Given the description of an element on the screen output the (x, y) to click on. 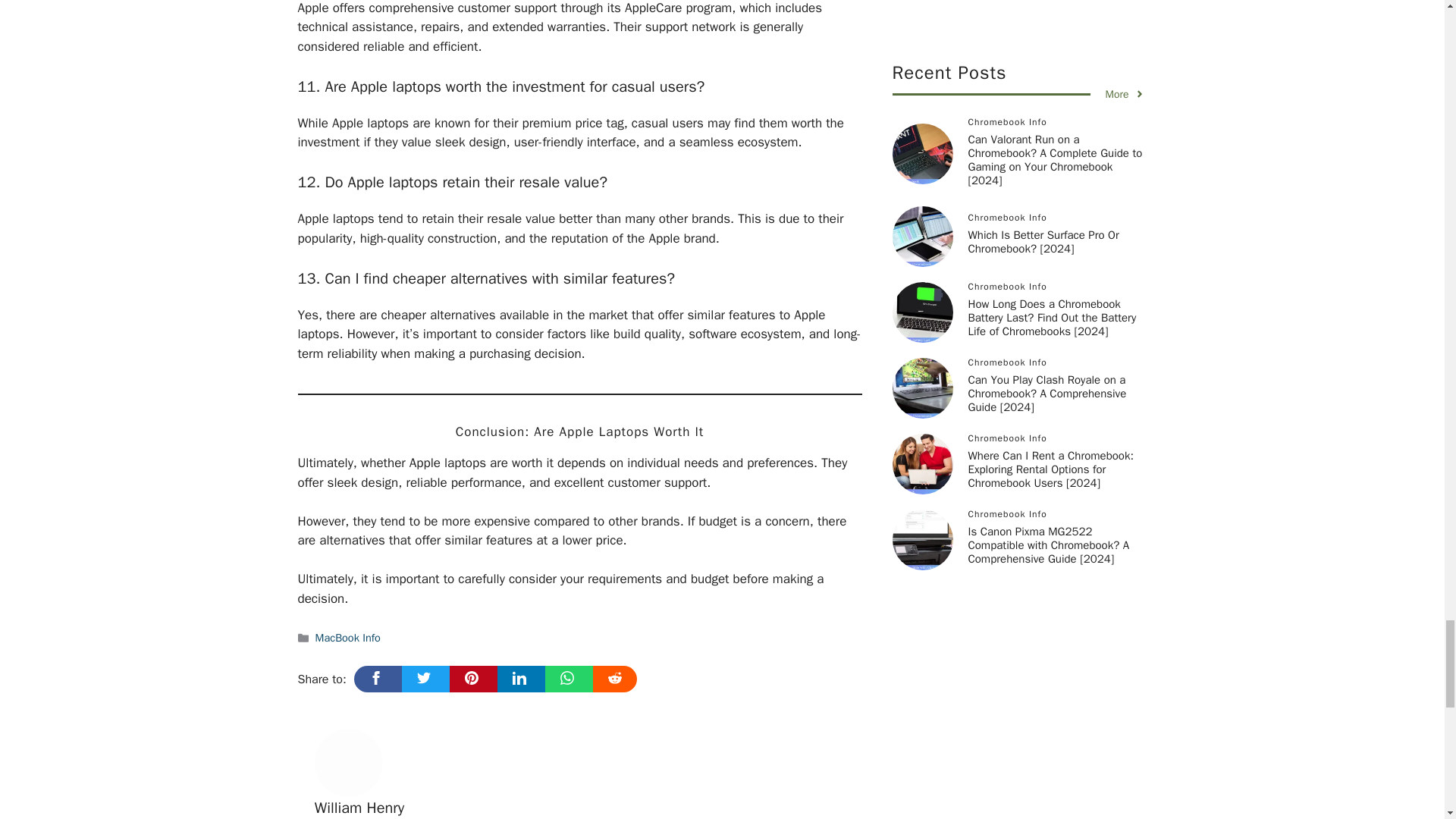
MacBook Info (347, 637)
